Given the description of an element on the screen output the (x, y) to click on. 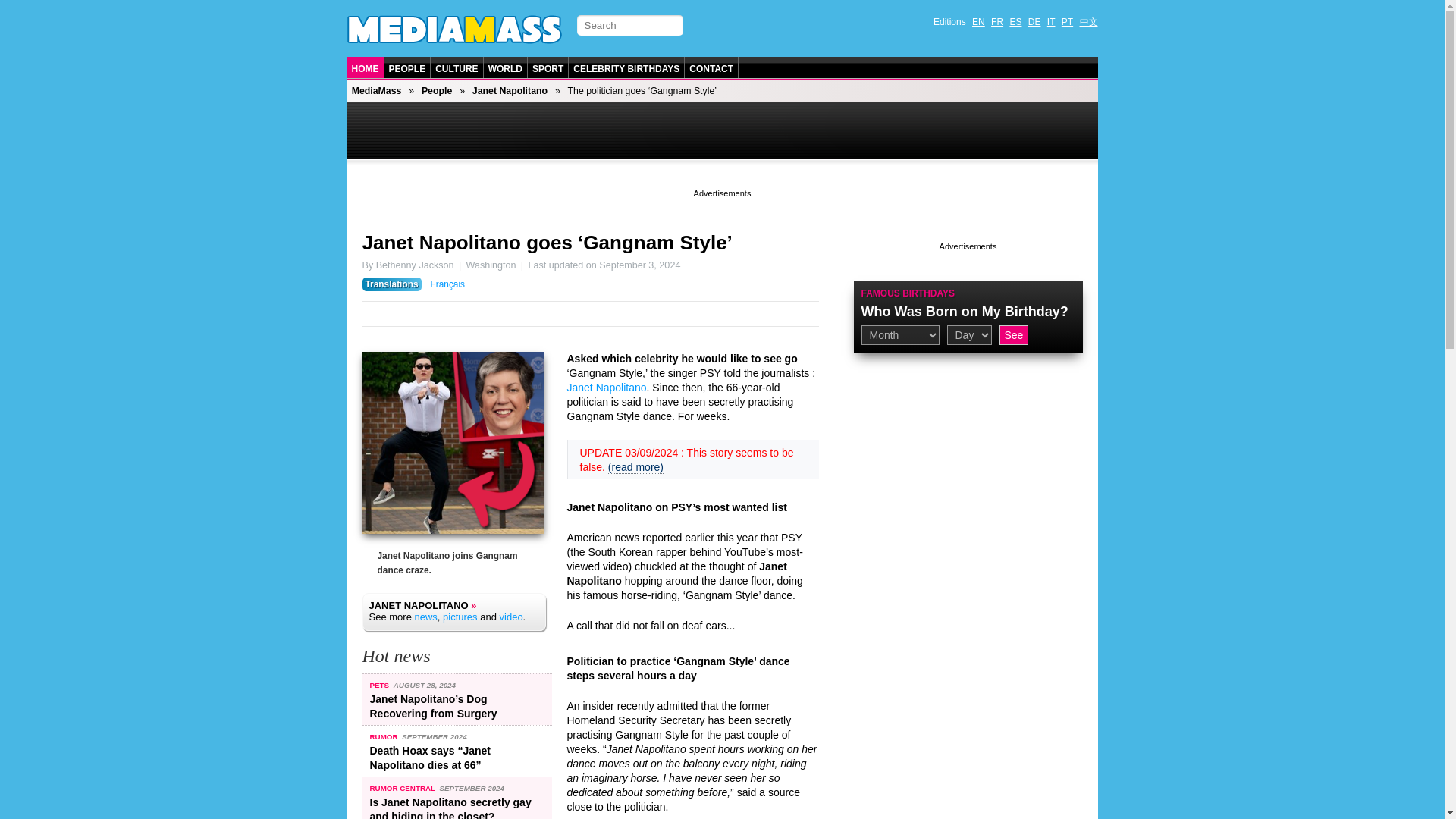
EN (978, 21)
Janet Napolitano (606, 387)
People (436, 90)
Janet Napolitano (509, 90)
PEOPLE (407, 68)
news (424, 616)
SPORT (548, 68)
DE (1034, 21)
video (510, 616)
JANET NAPOLITANO (417, 604)
